Given the description of an element on the screen output the (x, y) to click on. 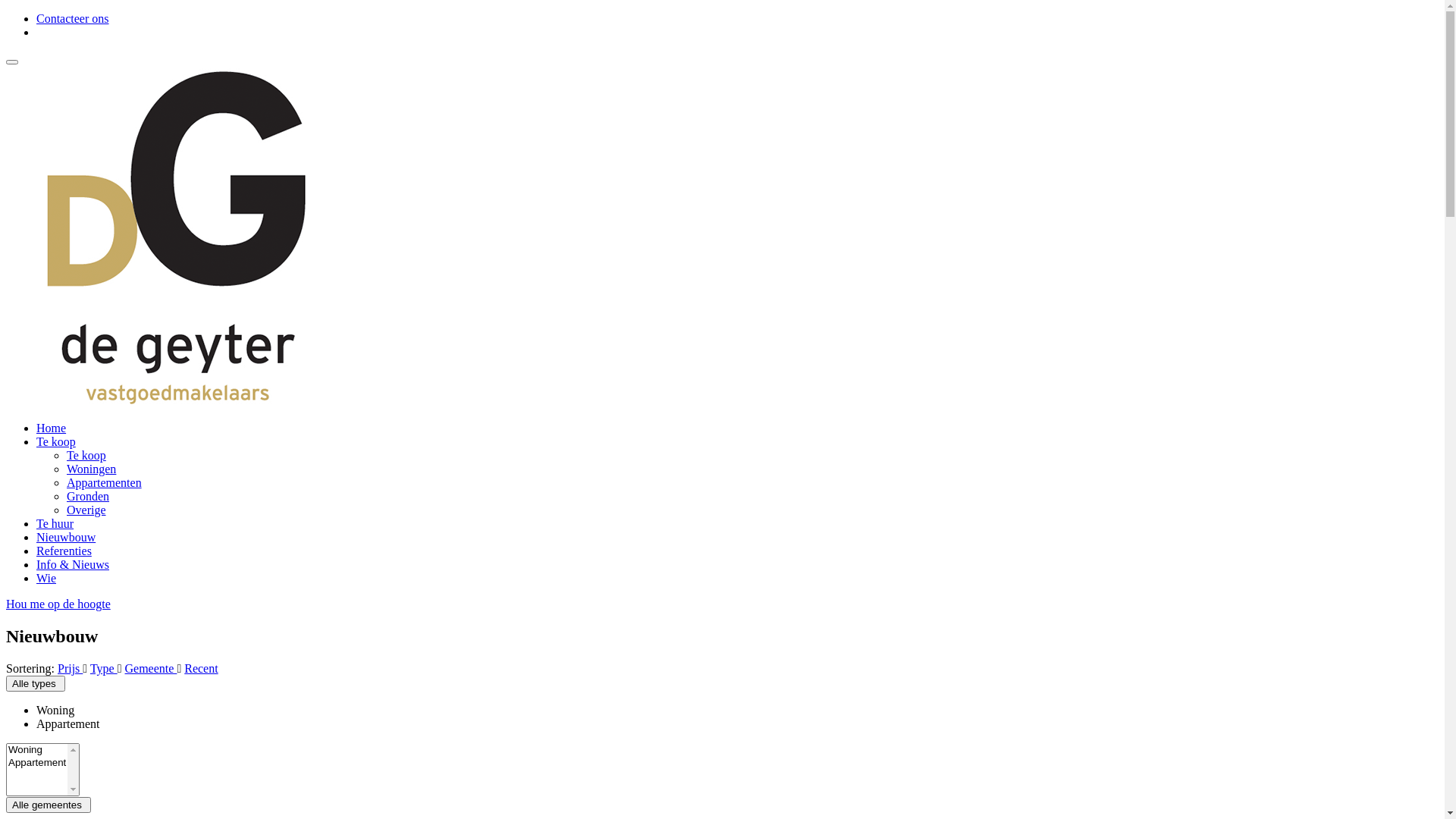
Alle gemeentes  Element type: text (48, 804)
Gemeente Element type: text (151, 668)
Referenties Element type: text (63, 550)
Hou me op de hoogte Element type: text (722, 604)
Overige Element type: text (86, 509)
Home Element type: text (50, 427)
Te koop Element type: text (55, 441)
Te koop Element type: text (86, 454)
Woningen Element type: text (91, 468)
Woning Element type: text (55, 709)
Contacteer ons Element type: text (72, 18)
Alle types  Element type: text (35, 683)
Type Element type: text (103, 668)
Info & Nieuws Element type: text (72, 564)
Te huur Element type: text (54, 523)
Nieuwbouw Element type: text (65, 536)
Appartementen Element type: text (103, 482)
Recent Element type: text (200, 668)
Appartement Element type: text (68, 723)
Gronden Element type: text (87, 495)
Wie Element type: text (46, 577)
Prijs Element type: text (69, 668)
